Given the description of an element on the screen output the (x, y) to click on. 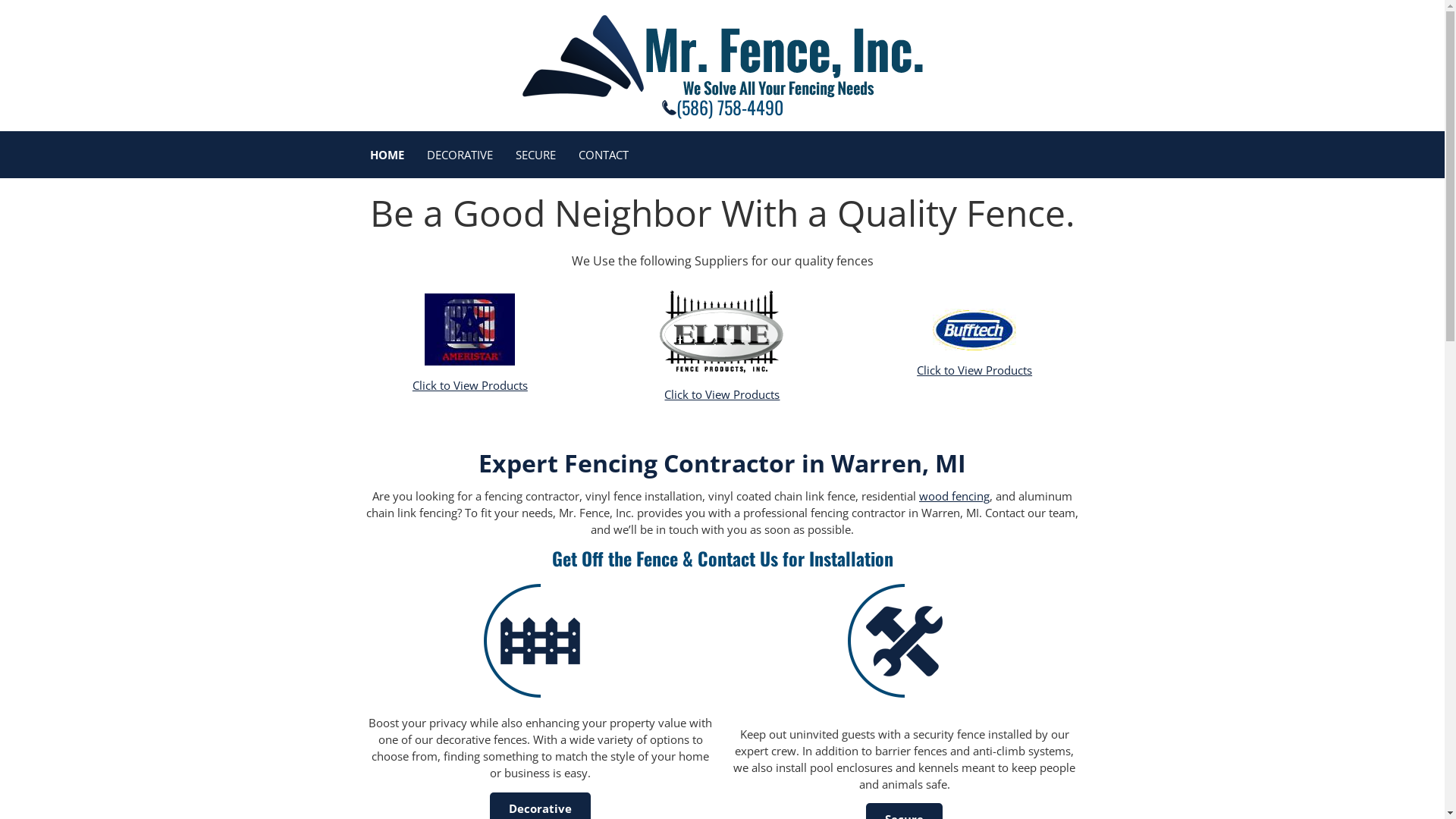
CONTACT Element type: text (602, 154)
Phone Icon Element type: hover (668, 107)
HOME Element type: text (386, 154)
Bufftech Element type: hover (974, 329)
Logo, Mr. Fence, Inc.  Element type: hover (721, 56)
Click to View Products Element type: text (974, 369)
wood fencing Element type: text (954, 495)
Click to View Products Element type: text (721, 393)
Decorative Fence Services Element type: hover (540, 640)
Elite Element type: hover (721, 329)
DECORATIVE Element type: text (458, 154)
Ameristar logo Element type: hover (469, 329)
SECURE Element type: text (535, 154)
Click to View Products Element type: text (469, 384)
